Given the description of an element on the screen output the (x, y) to click on. 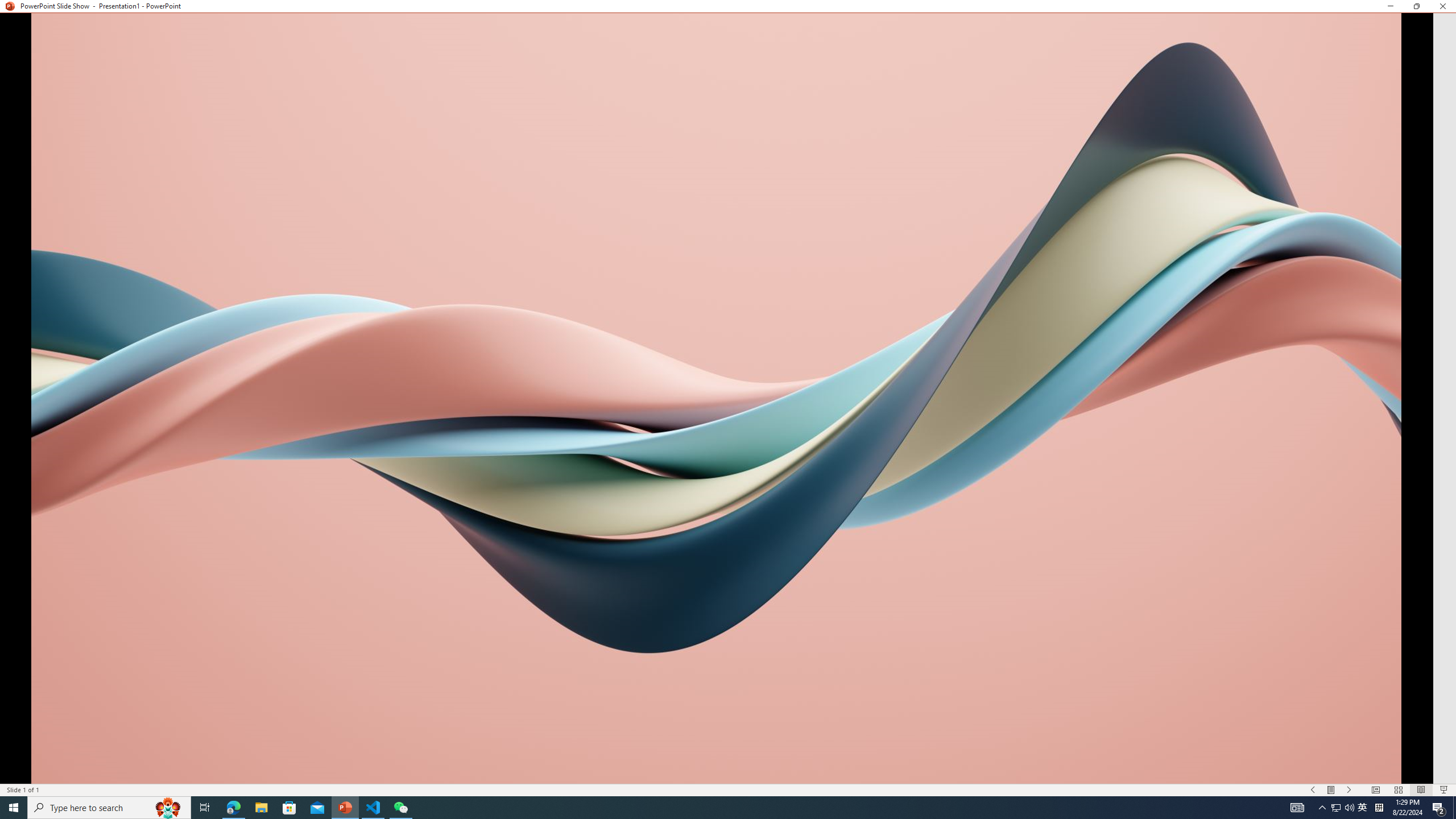
Slide Show Next On (1349, 790)
Menu On (1331, 790)
Slide Show Previous On (1313, 790)
